Given the description of an element on the screen output the (x, y) to click on. 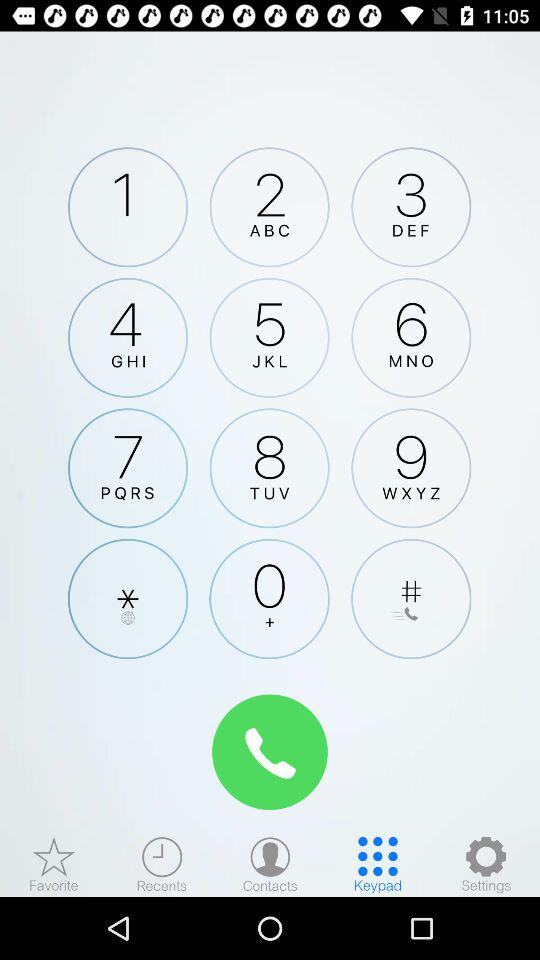
call (270, 751)
